Given the description of an element on the screen output the (x, y) to click on. 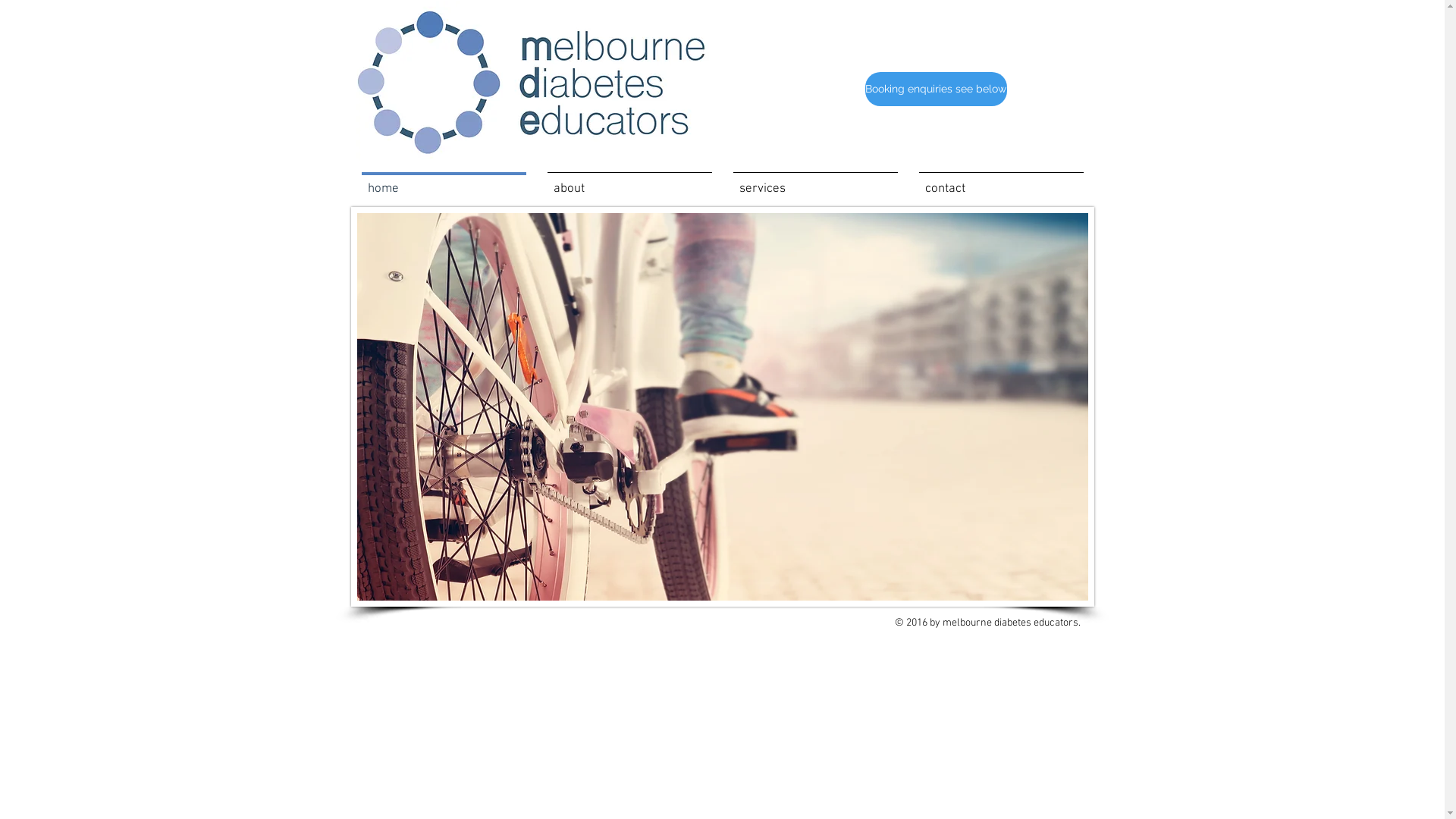
home Element type: text (443, 182)
City Cycle Element type: hover (721, 406)
Booking enquiries see below Element type: text (935, 89)
about Element type: text (629, 182)
services Element type: text (814, 182)
contact Element type: text (1001, 182)
